Given the description of an element on the screen output the (x, y) to click on. 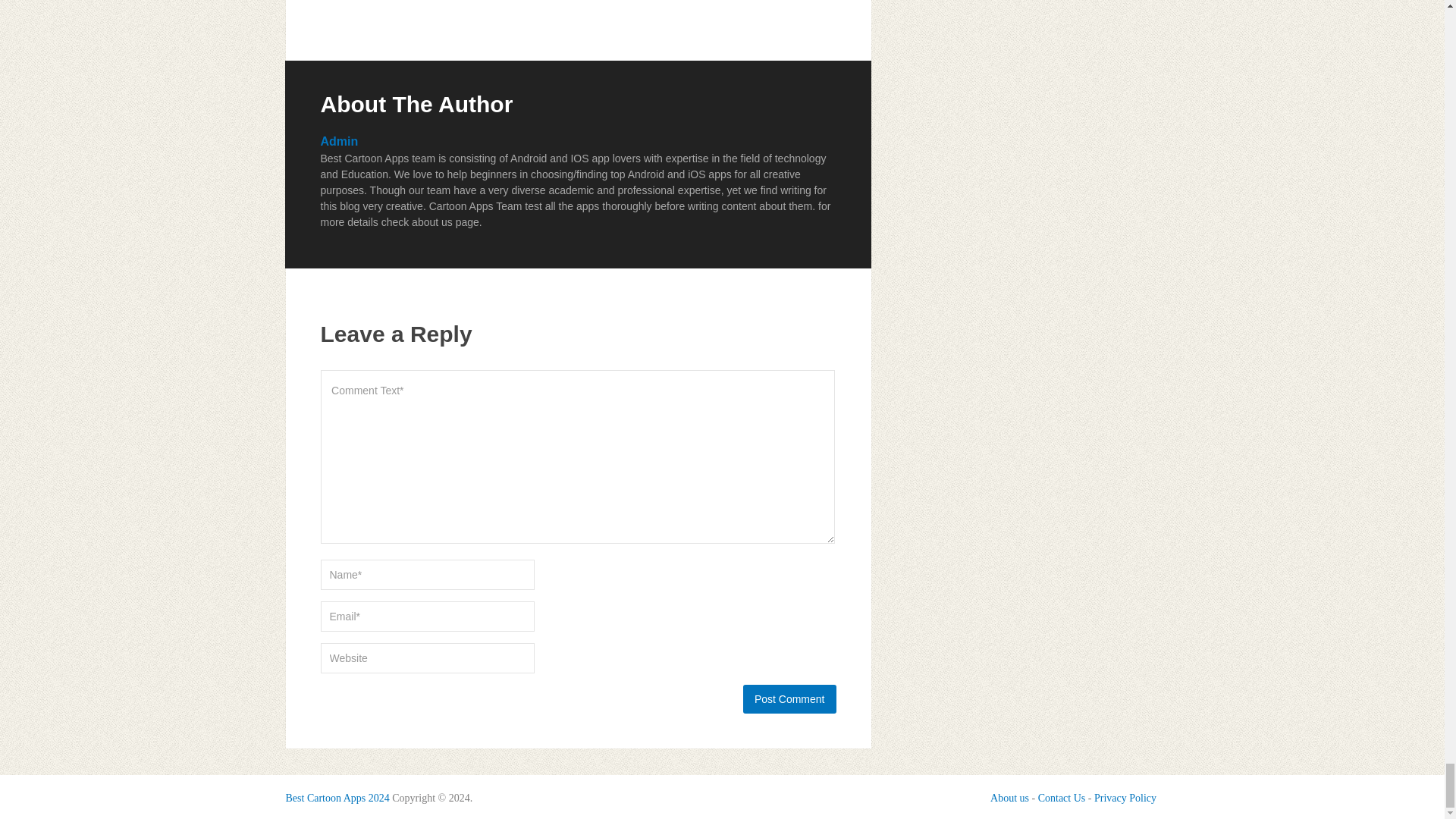
Post Comment (788, 698)
Admin (339, 141)
Post Comment (788, 698)
